Given the description of an element on the screen output the (x, y) to click on. 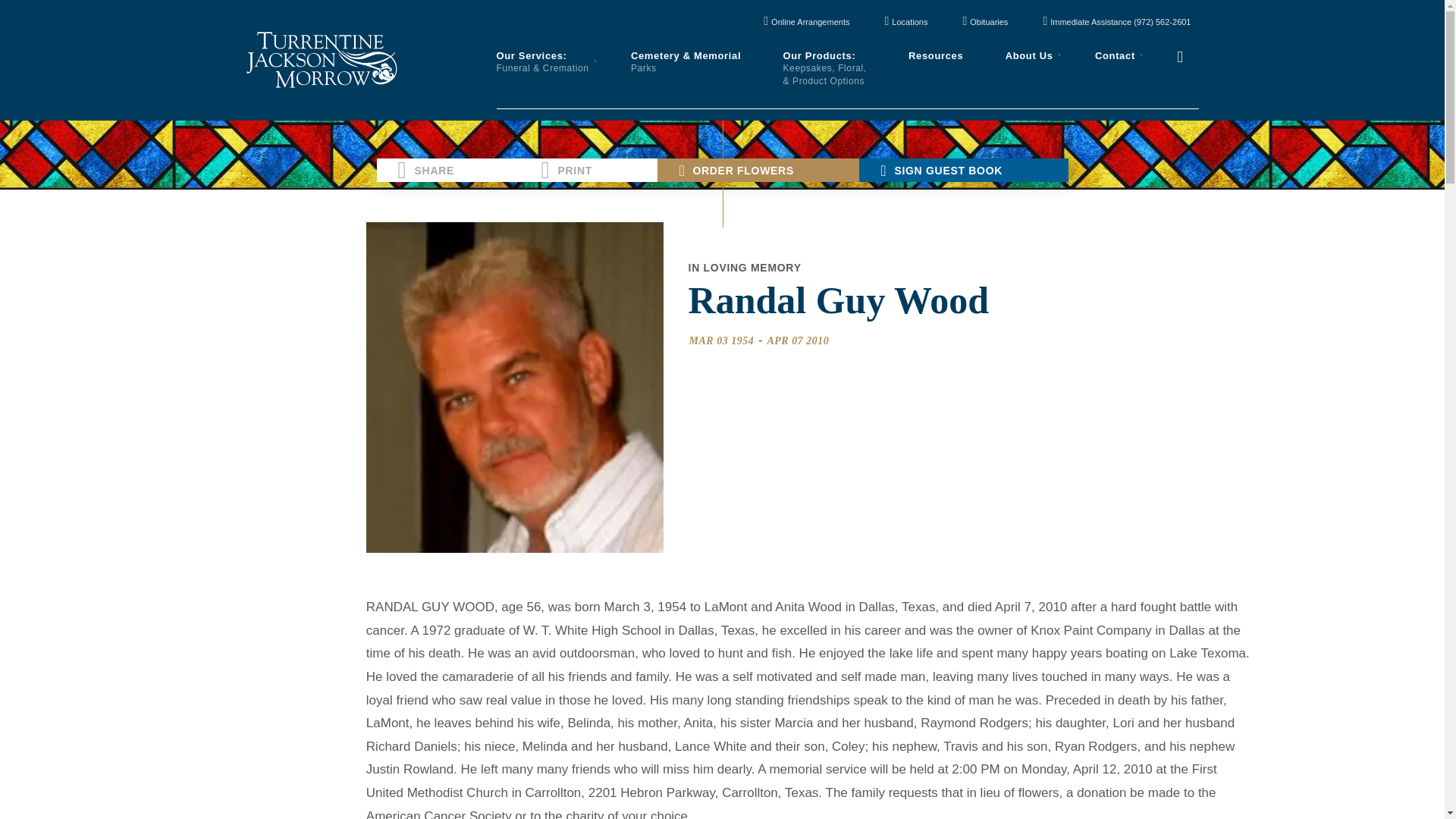
SIGN GUEST BOOK (963, 169)
About Us (1029, 55)
Obituaries (984, 22)
Resources (936, 55)
PRINT (588, 169)
Contact (1114, 55)
Online Arrangements (806, 22)
Locations (905, 22)
SHARE (447, 169)
ORDER FLOWERS (758, 169)
